Given the description of an element on the screen output the (x, y) to click on. 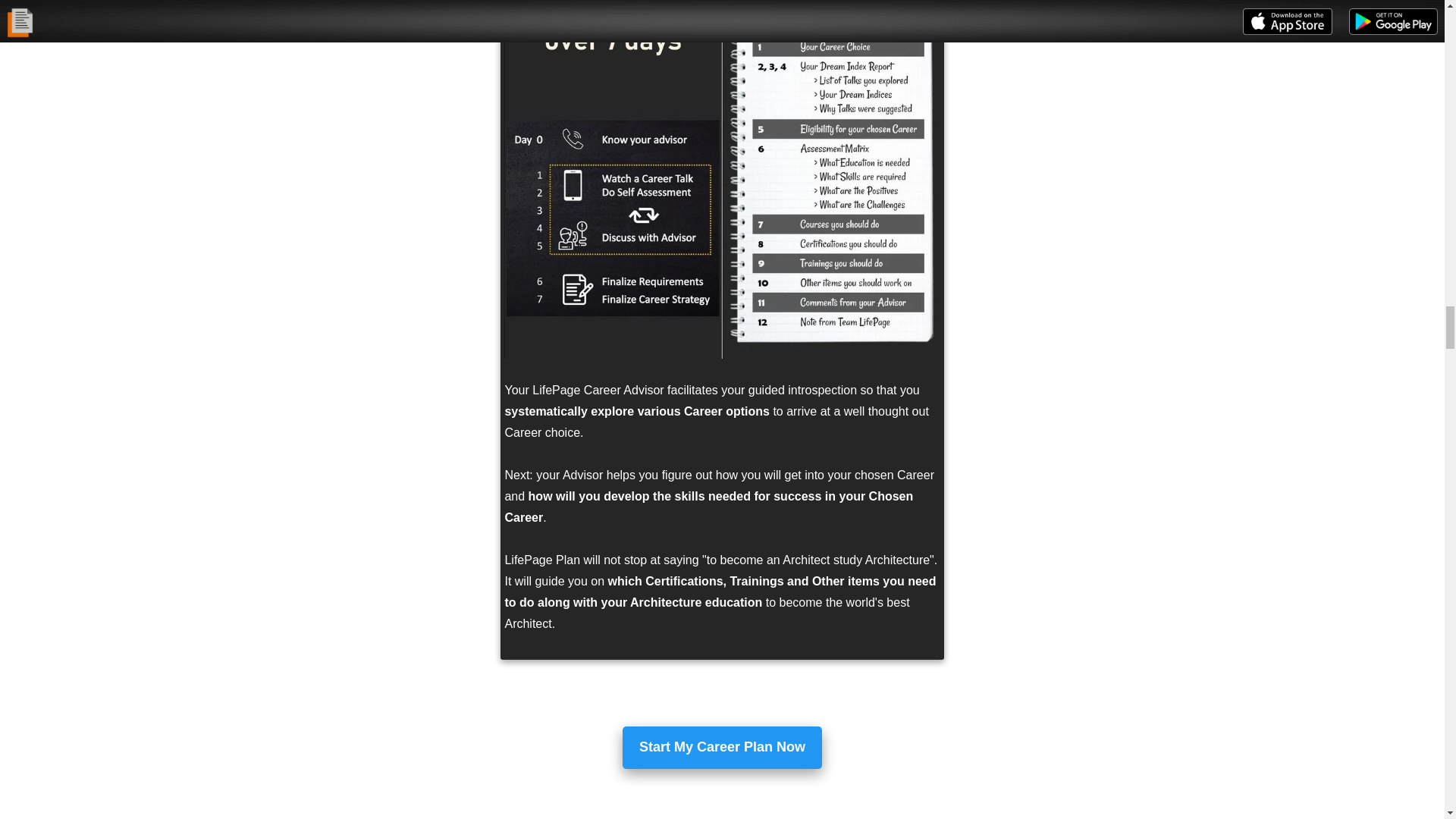
  Start My Career Plan Now   (722, 746)
  Start My Career Plan Now   (722, 747)
